Given the description of an element on the screen output the (x, y) to click on. 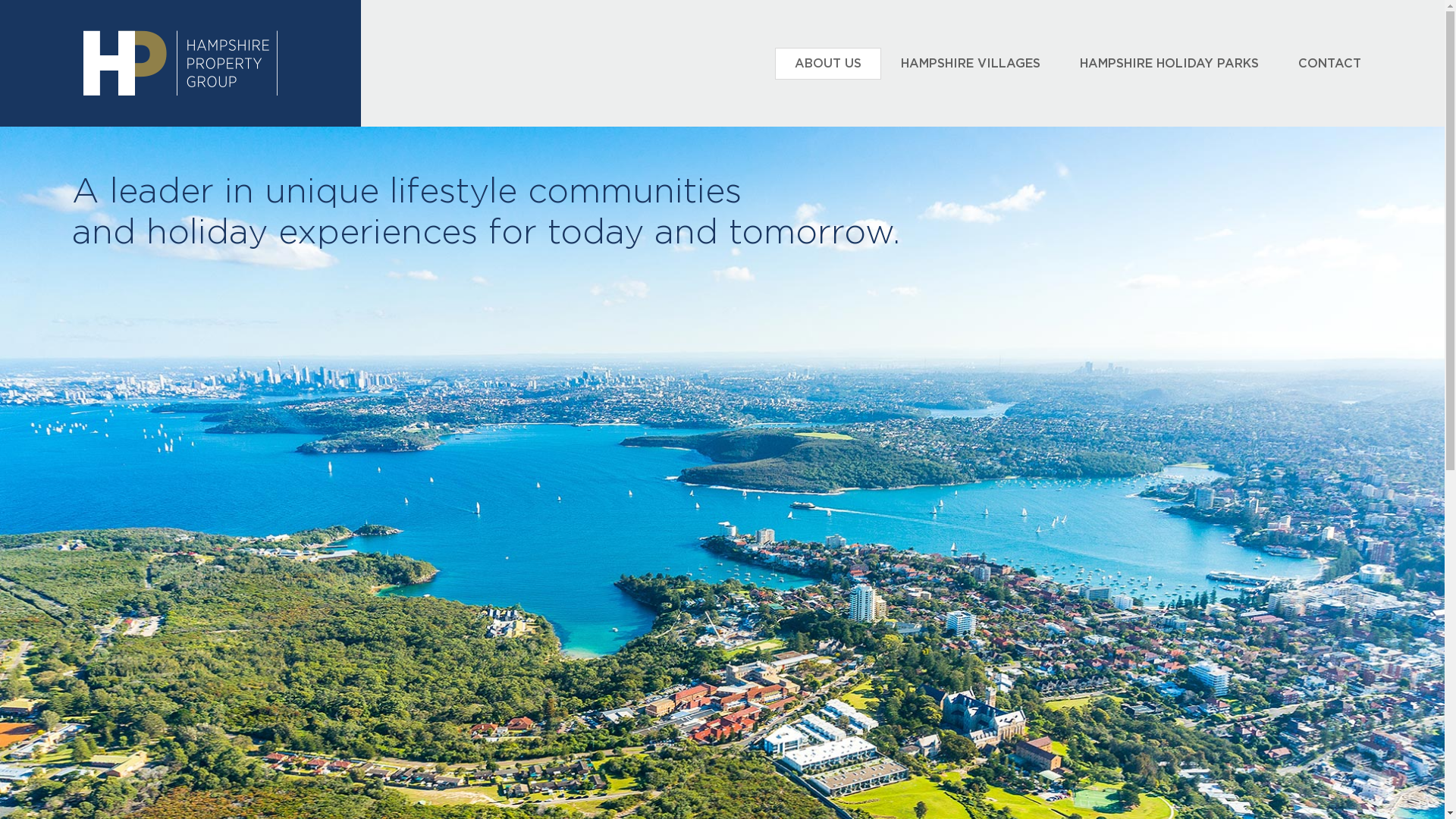
ABOUT US Element type: text (827, 63)
HAMPSHIRE VILLAGES Element type: text (970, 63)
CONTACT Element type: text (1329, 63)
HP LOGO Element type: hover (180, 63)
HAMPSHIRE HOLIDAY PARKS Element type: text (1168, 63)
